Given the description of an element on the screen output the (x, y) to click on. 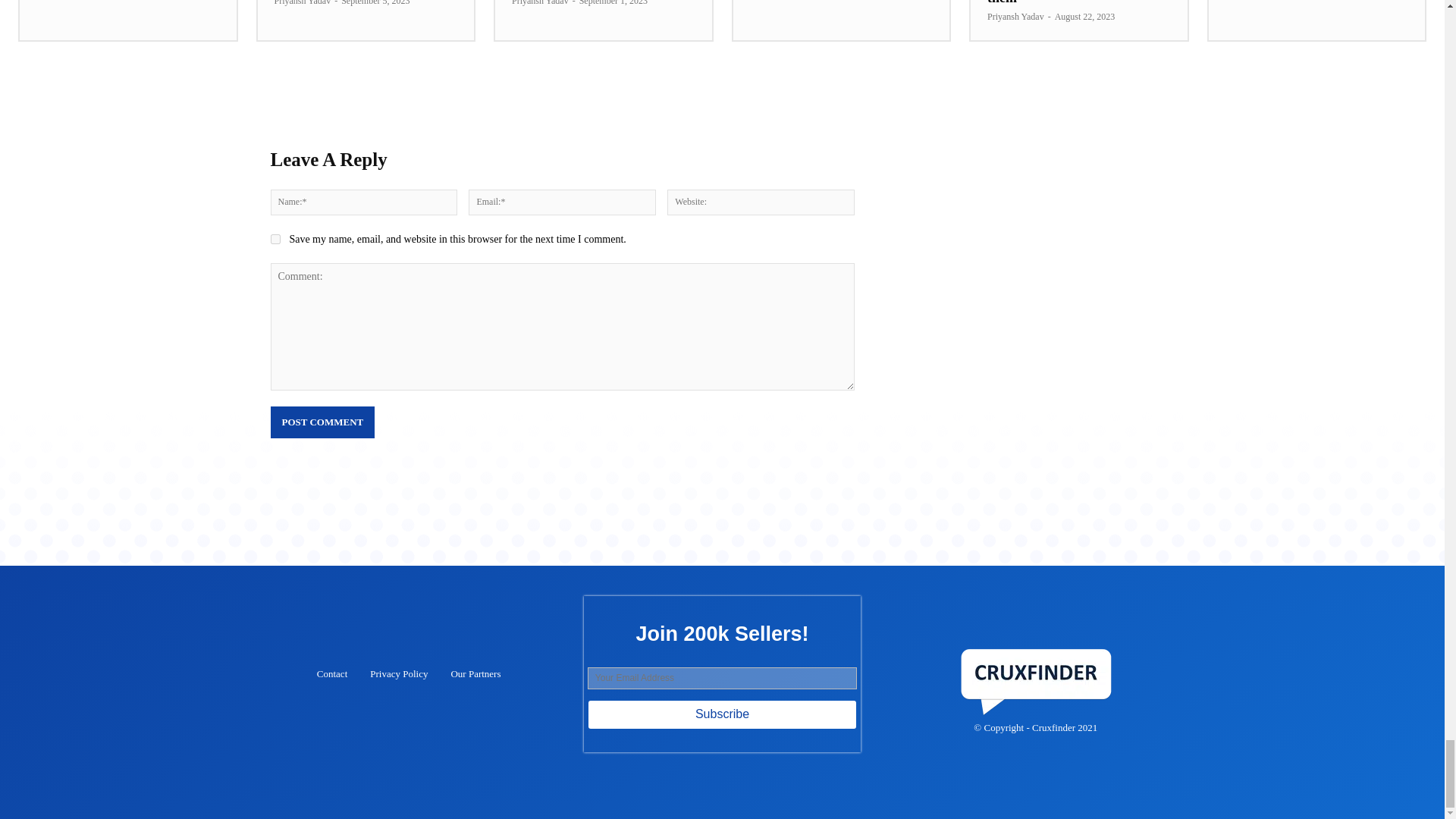
yes (274, 239)
Post Comment (321, 422)
Subscribe (722, 714)
